Given the description of an element on the screen output the (x, y) to click on. 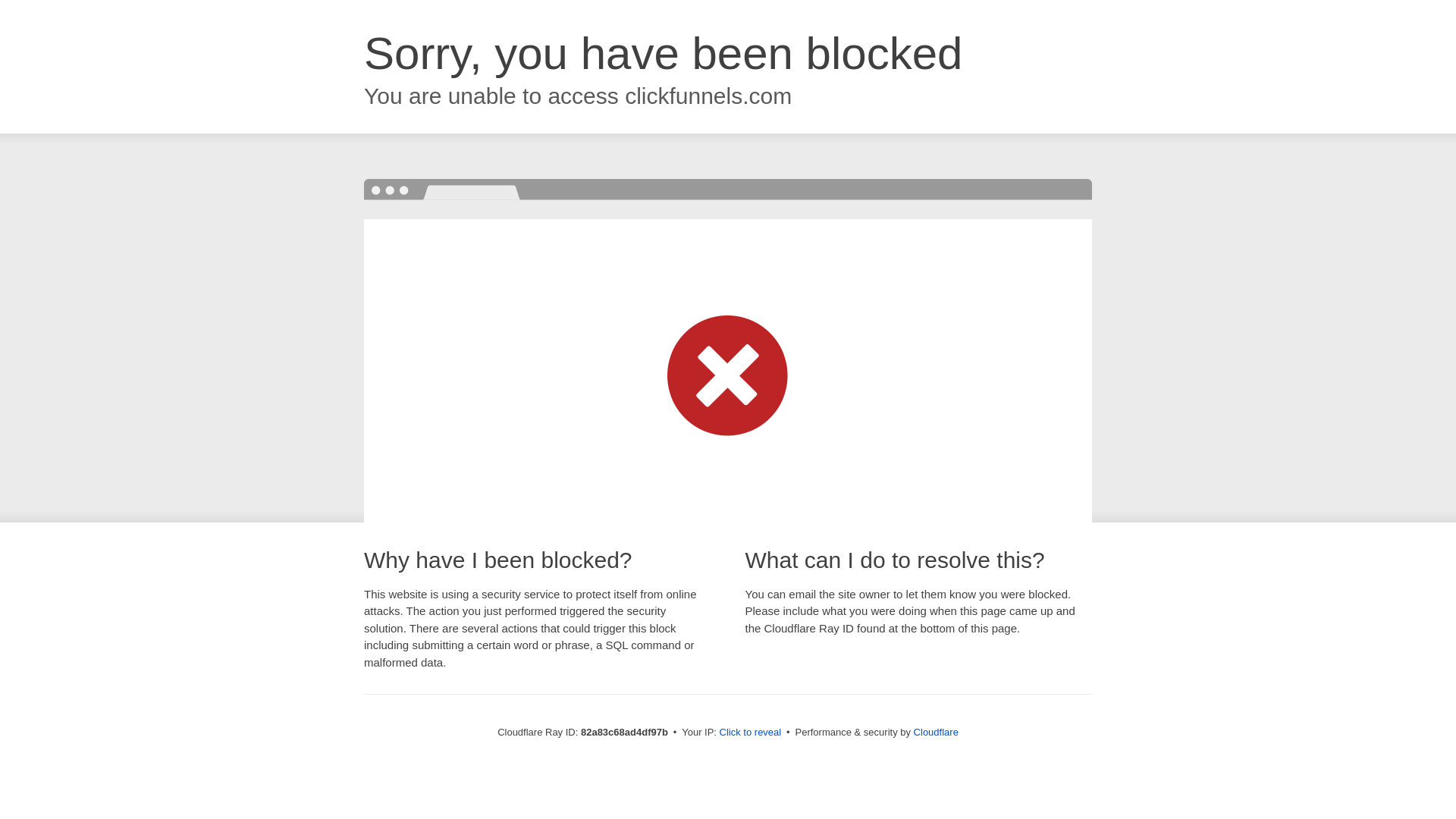
Click to reveal Element type: text (750, 732)
Cloudflare Element type: text (935, 731)
